Given the description of an element on the screen output the (x, y) to click on. 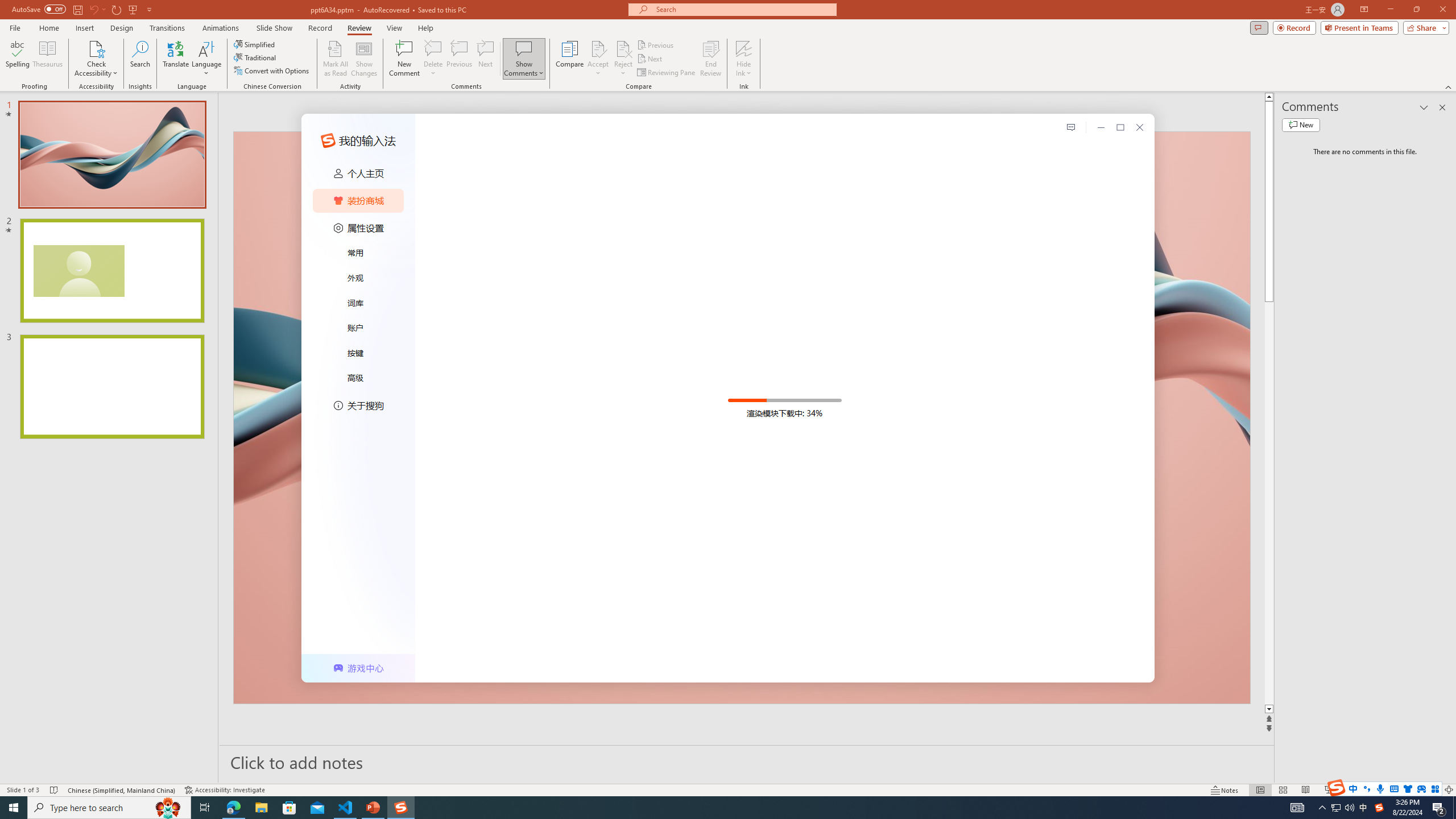
Compare (569, 58)
Traditional (255, 56)
Mark All as Read (335, 58)
